Given the description of an element on the screen output the (x, y) to click on. 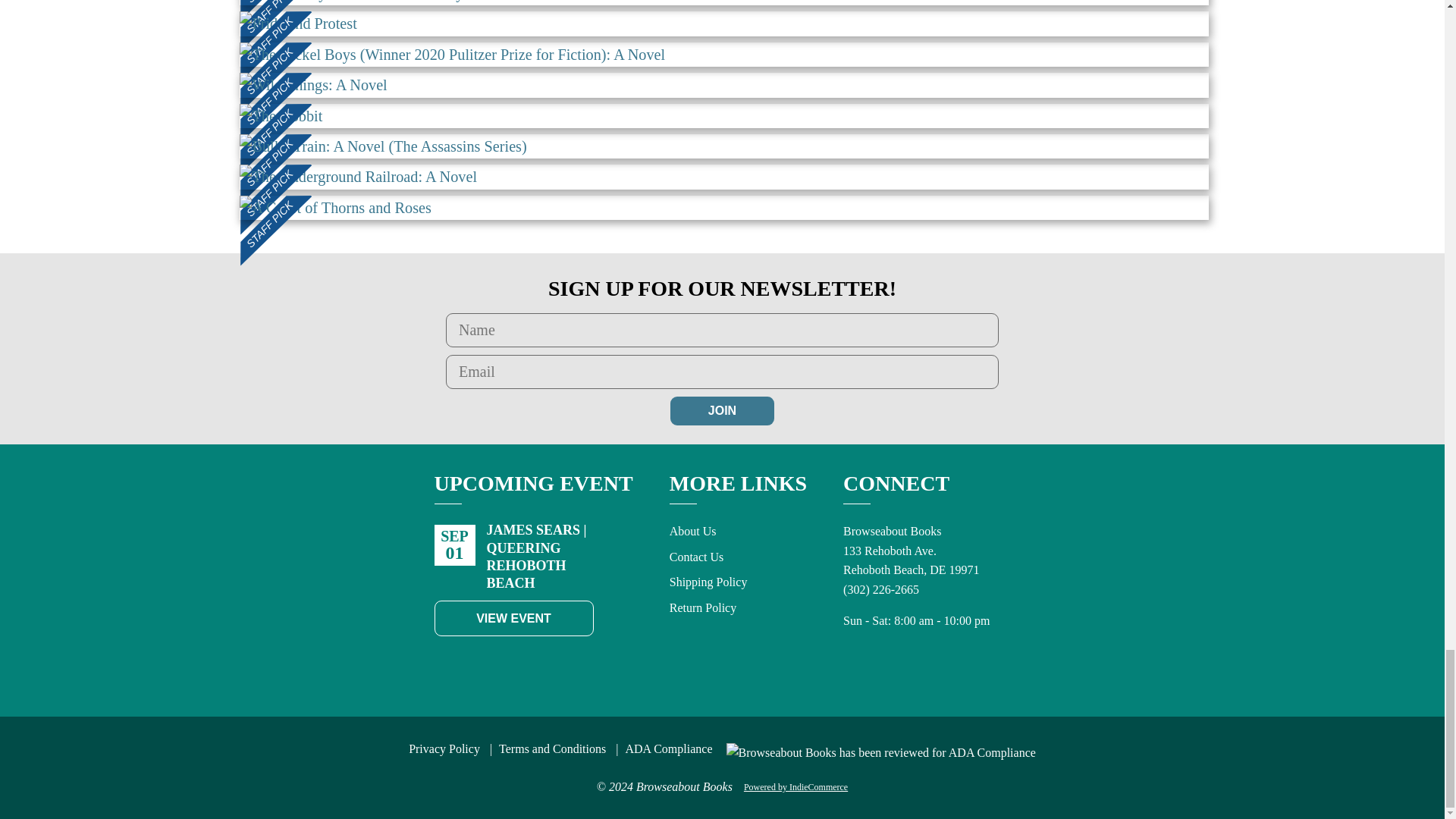
Connect with Tik Tok (919, 663)
Connect with Facebook (852, 663)
Connect with Instagram (885, 663)
Join (721, 410)
